Given the description of an element on the screen output the (x, y) to click on. 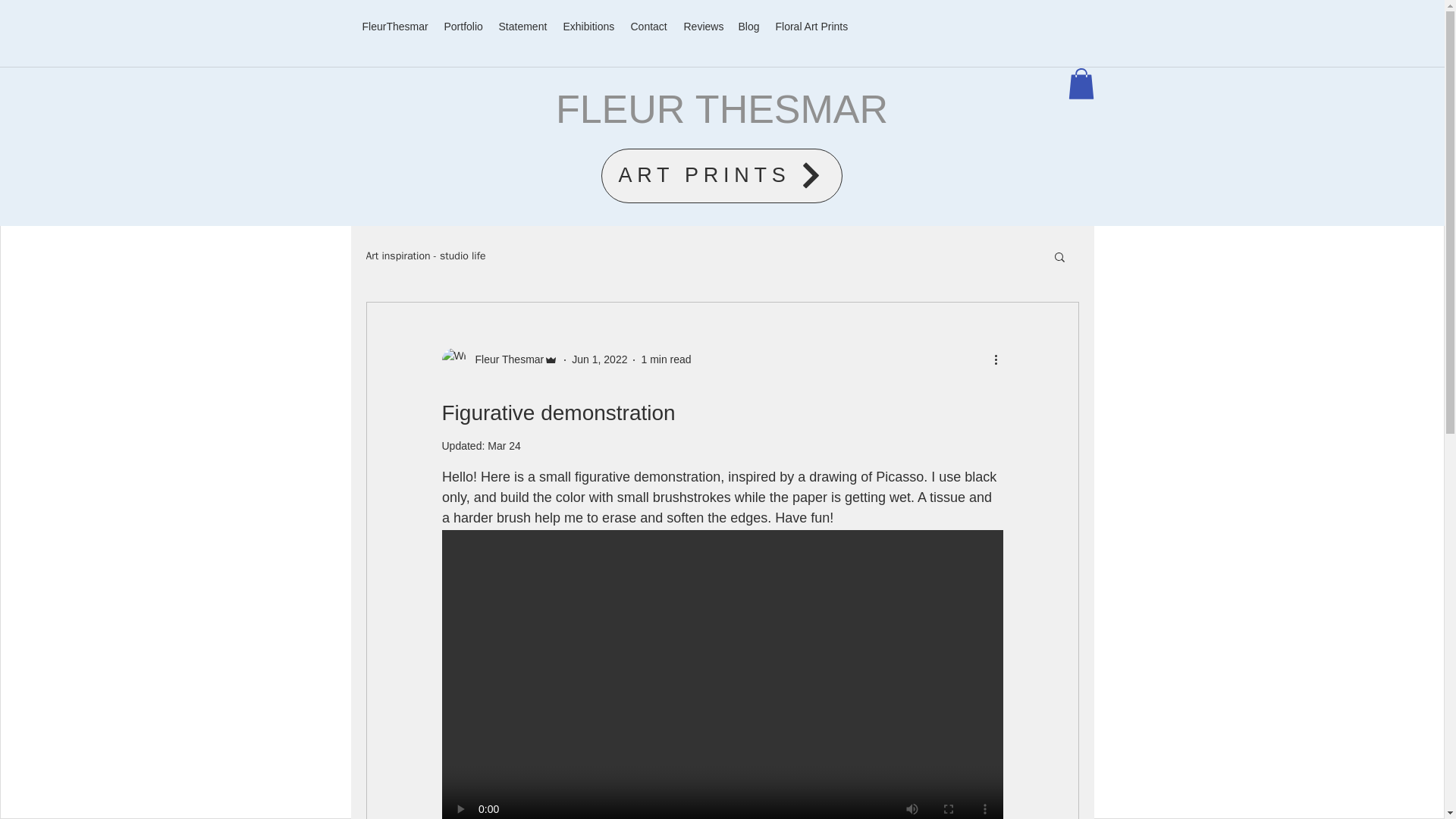
Reviews (703, 26)
1 min read (665, 358)
Fleur Thesmar (499, 360)
Portfolio (464, 26)
FleurThesmar (395, 26)
FLEUR THESMAR (722, 108)
Floral Art Prints (811, 26)
Mar 24 (504, 445)
Exhibitions (588, 26)
Blog (749, 26)
Fleur Thesmar (504, 359)
Art inspiration - studio life (424, 255)
Jun 1, 2022 (599, 358)
Statement (524, 26)
Contact (650, 26)
